Given the description of an element on the screen output the (x, y) to click on. 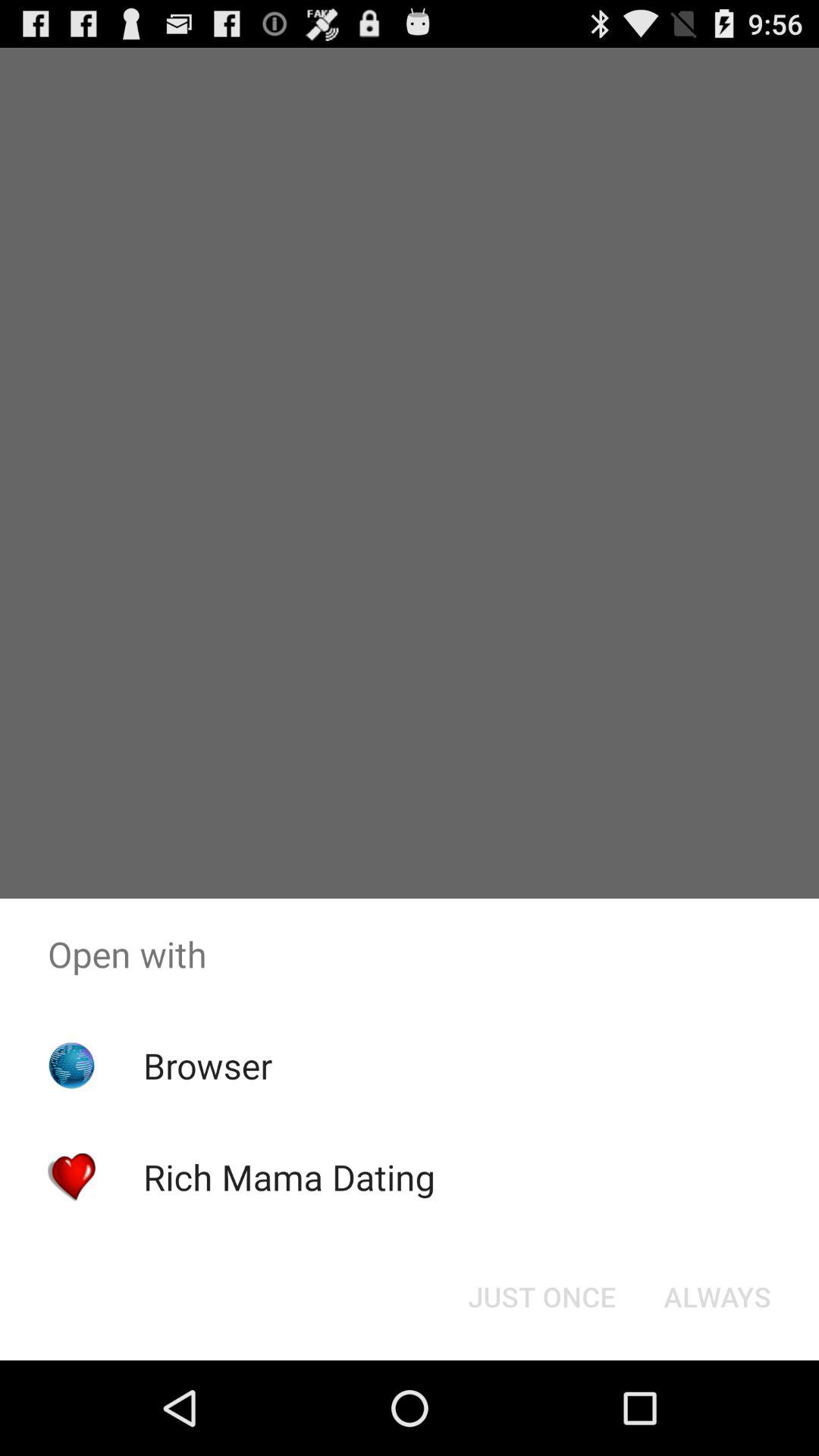
click the icon at the bottom right corner (717, 1296)
